Given the description of an element on the screen output the (x, y) to click on. 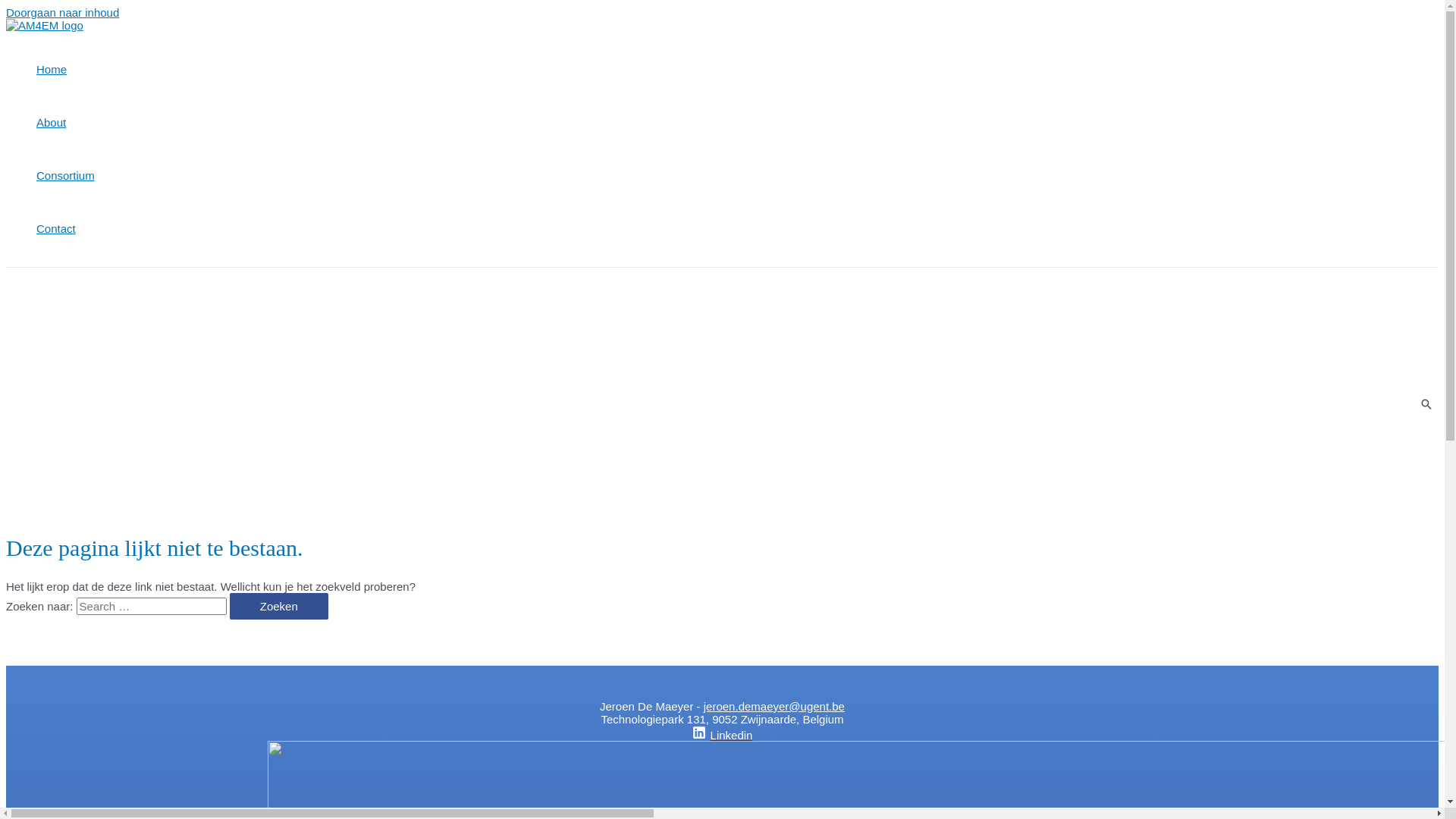
About Element type: text (65, 122)
Consortium Element type: text (65, 175)
Doorgaan naar inhoud Element type: text (62, 12)
Zoeken Element type: text (278, 606)
Contact Element type: text (65, 228)
Linkedin Element type: text (722, 734)
jeroen.demaeyer@ugent.be Element type: text (773, 705)
Home Element type: text (65, 69)
